Given the description of an element on the screen output the (x, y) to click on. 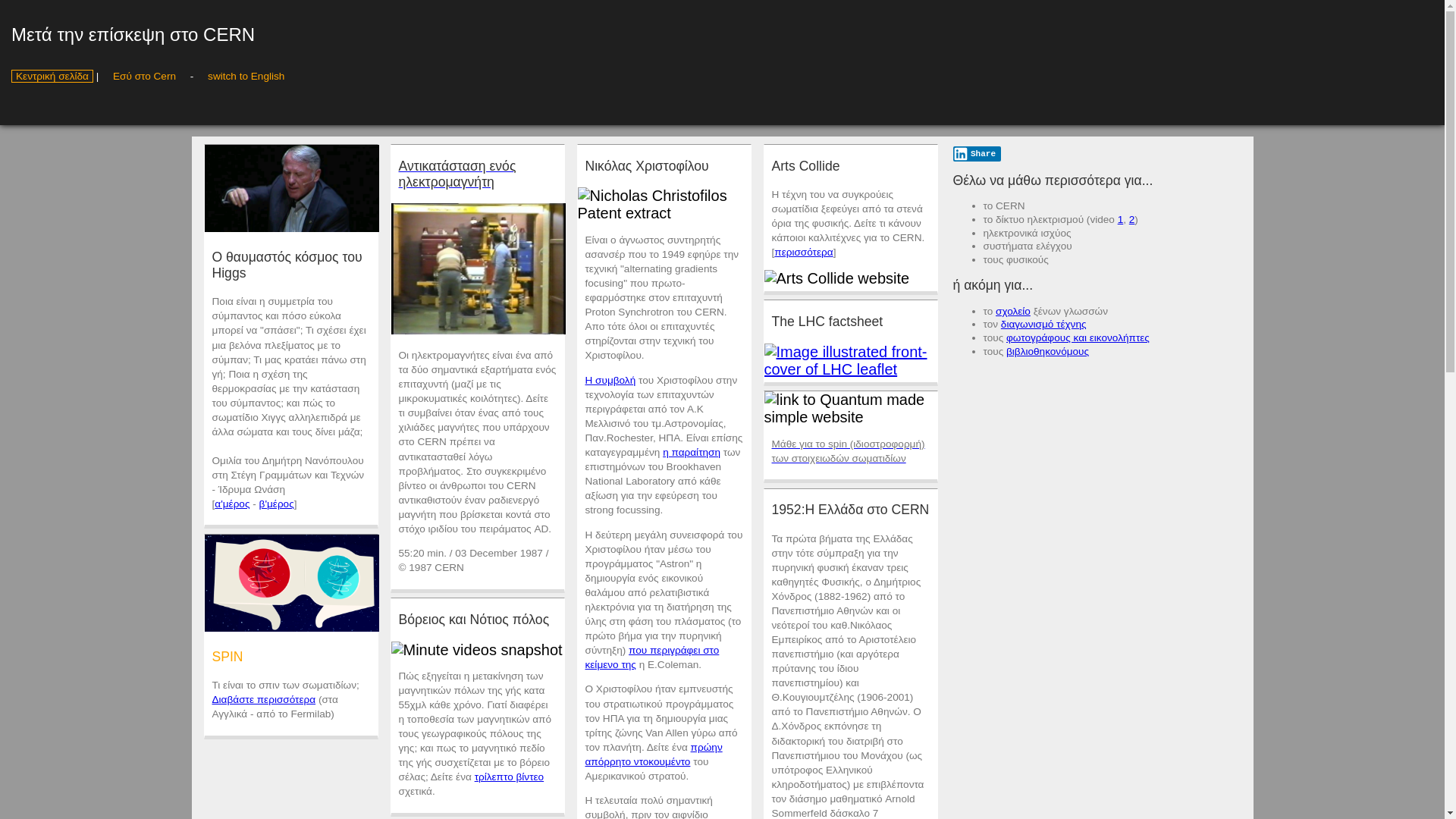
Arts Collide website Element type: hover (837, 278)
link to Quantum made simple website Element type: hover (850, 408)
Share Element type: text (976, 153)
Nicholas Christofilos Patent extract Element type: hover (663, 204)
2 Element type: text (1132, 219)
Minute Physics - where is the true North Pole? Element type: hover (476, 649)
1 Element type: text (1120, 219)
switch to English Element type: text (245, 75)
link to LHC leaflet in English Element type: hover (850, 360)
